Given the description of an element on the screen output the (x, y) to click on. 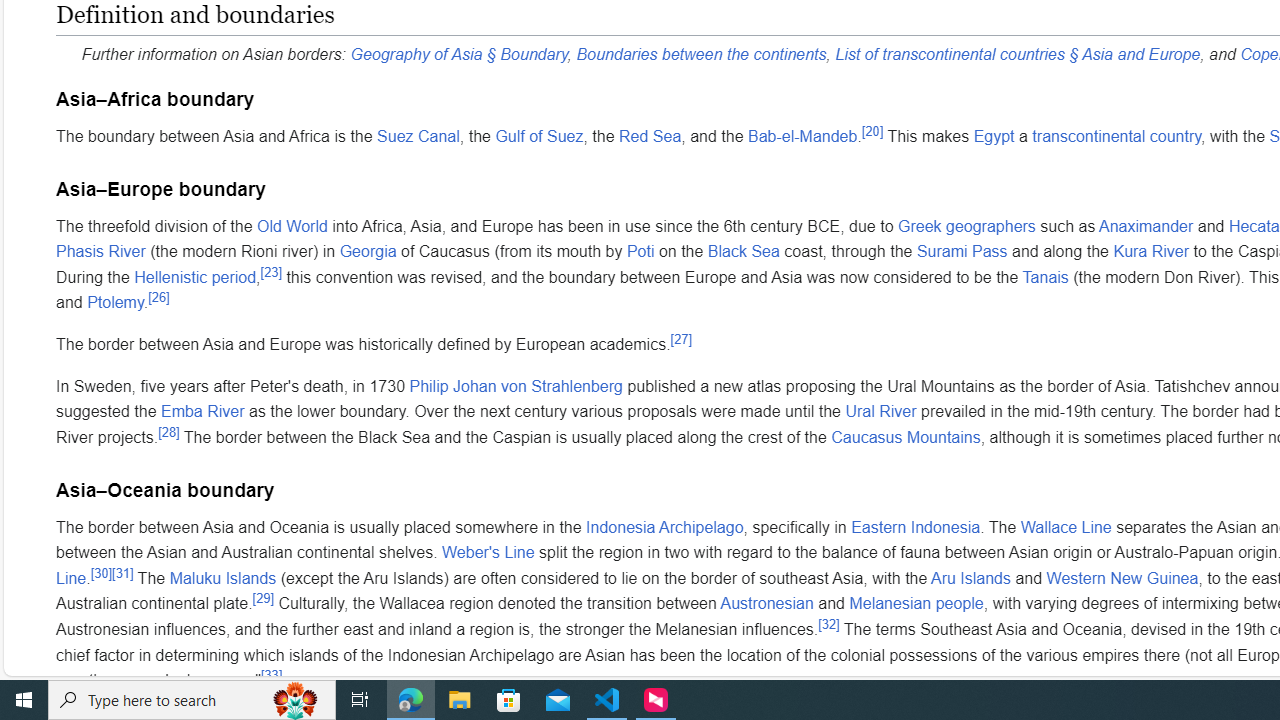
Emba River (202, 412)
Old World (292, 225)
Boundaries between the continents (701, 53)
[29] (262, 598)
[20] (872, 130)
Surami Pass (962, 251)
transcontinental country (1116, 135)
[27] (680, 339)
[26] (159, 298)
Weber's Line (488, 553)
Poti (640, 251)
Philip Johan von Strahlenberg (516, 386)
Melanesian people (916, 603)
Bab-el-Mandeb (802, 135)
